Given the description of an element on the screen output the (x, y) to click on. 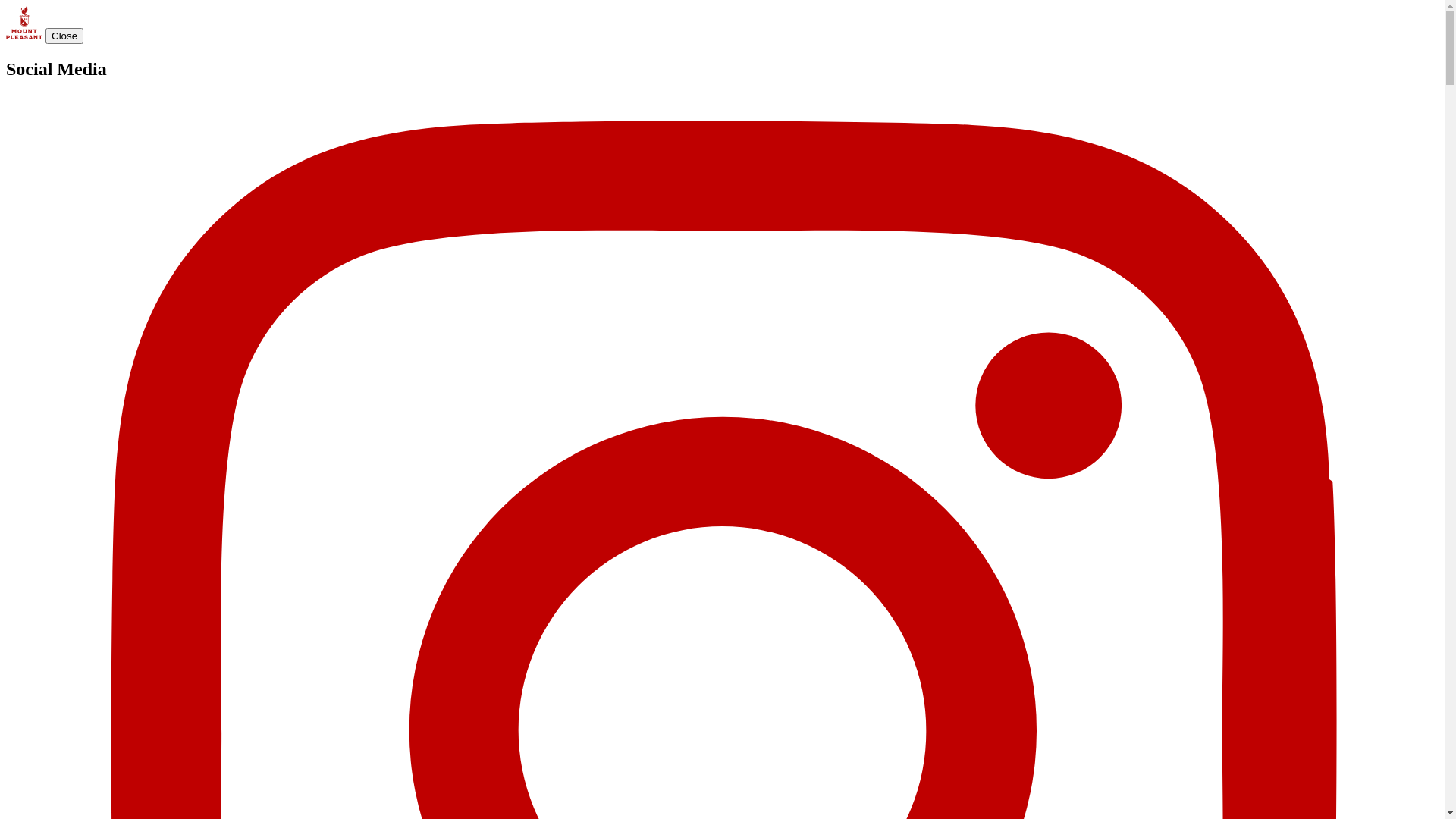
Close Element type: text (64, 35)
